Given the description of an element on the screen output the (x, y) to click on. 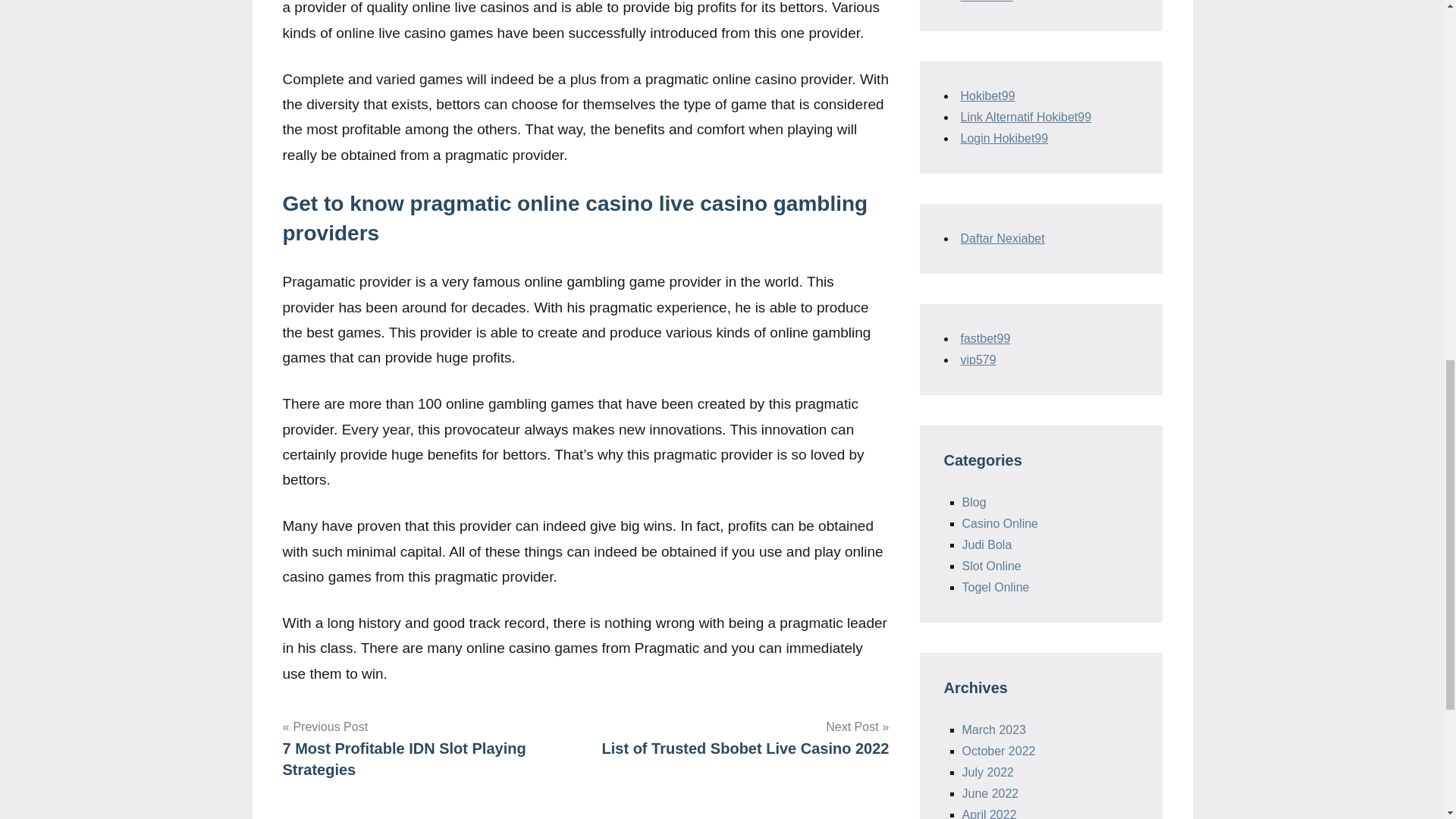
Login Hokibet99 (1003, 137)
Hokibet99 (986, 95)
fastbet99 (742, 737)
vip579 (984, 338)
Starbet99 (977, 359)
Daftar Nexiabet (985, 1)
Link Alternatif Hokibet99 (427, 748)
